Given the description of an element on the screen output the (x, y) to click on. 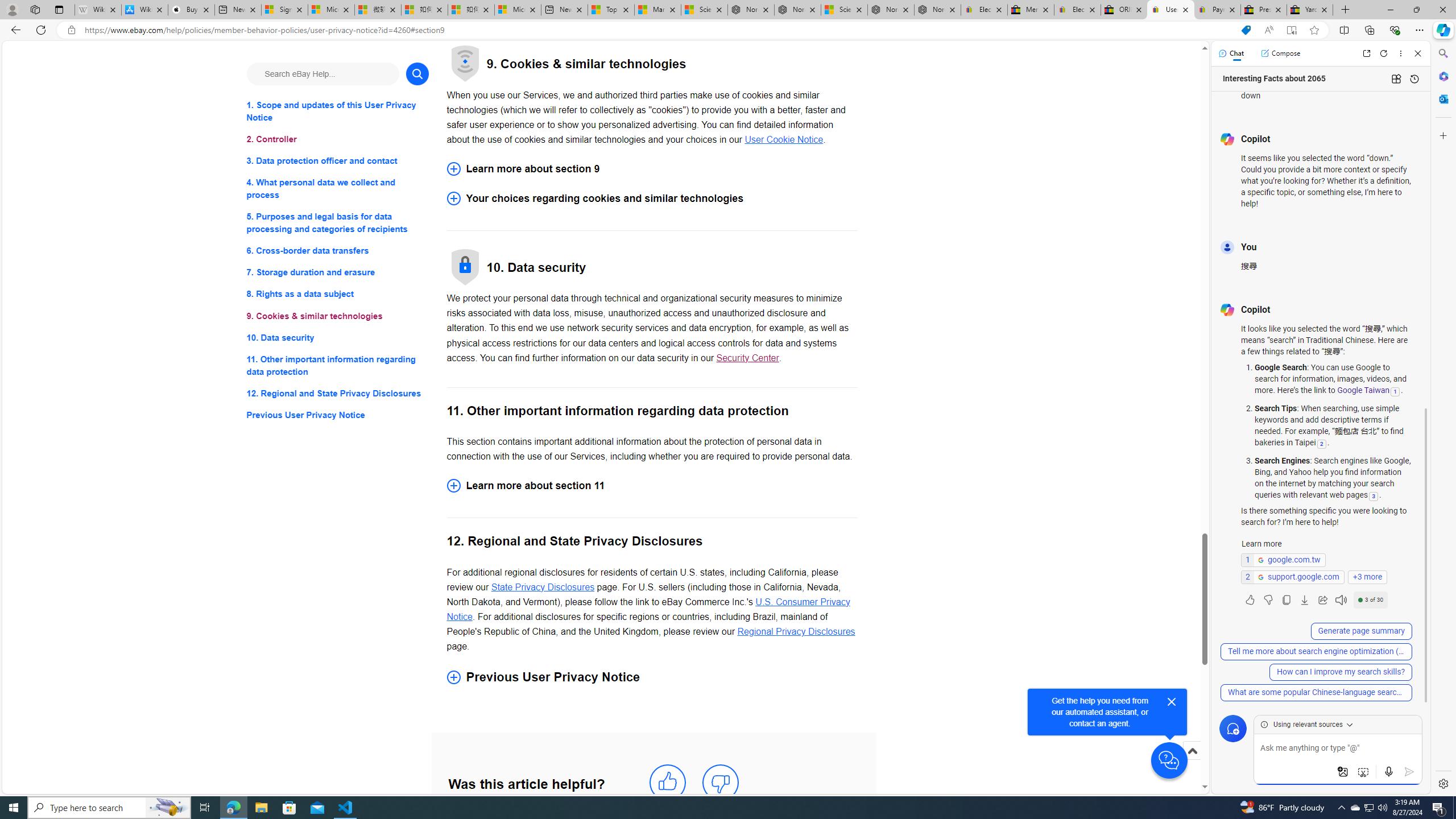
4. What personal data we collect and process (337, 189)
6. Cross-border data transfers (337, 250)
8. Rights as a data subject (337, 293)
9. Cookies & similar technologies (337, 315)
